Given the description of an element on the screen output the (x, y) to click on. 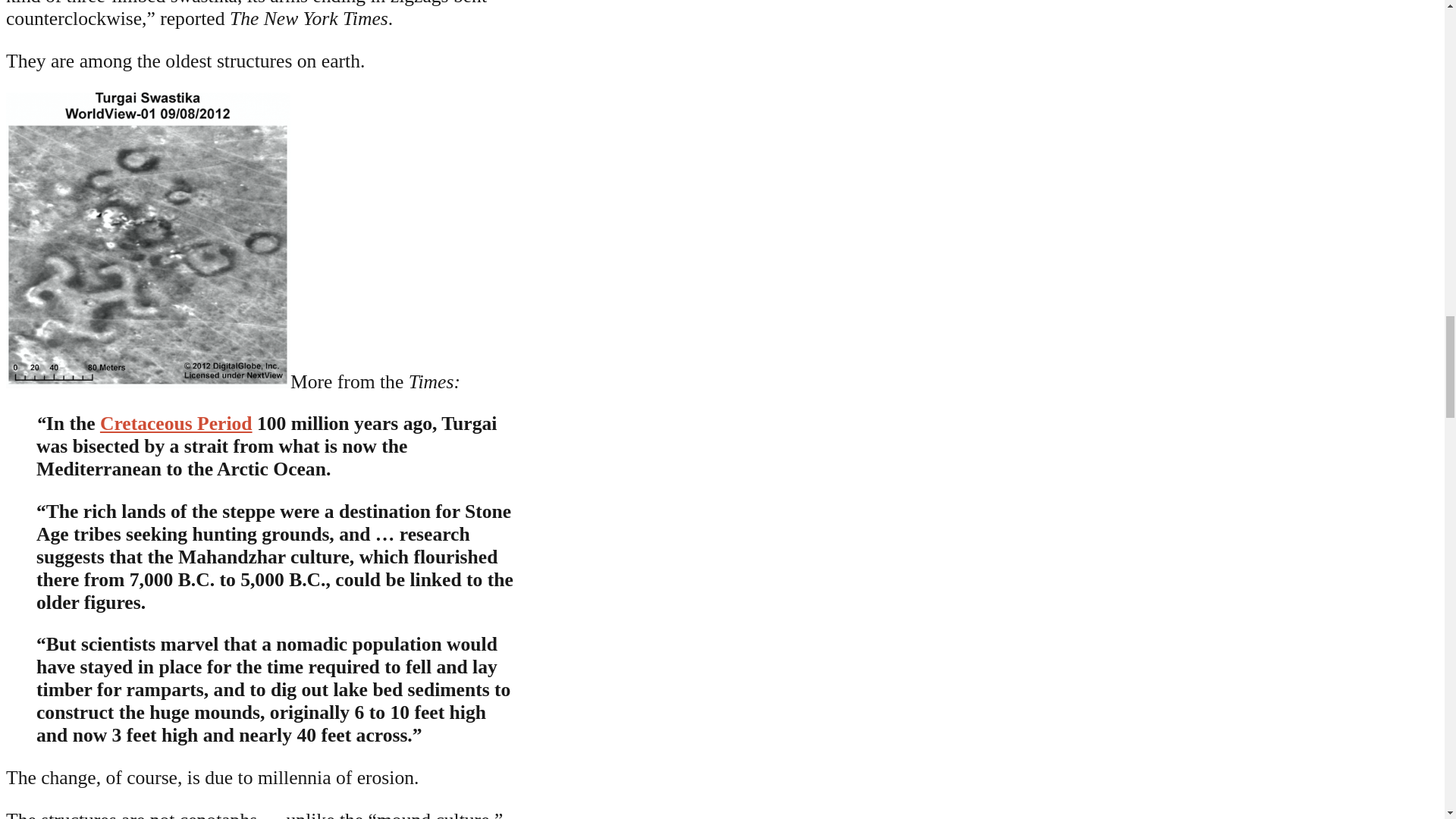
Cretaceous Period (175, 423)
